Given the description of an element on the screen output the (x, y) to click on. 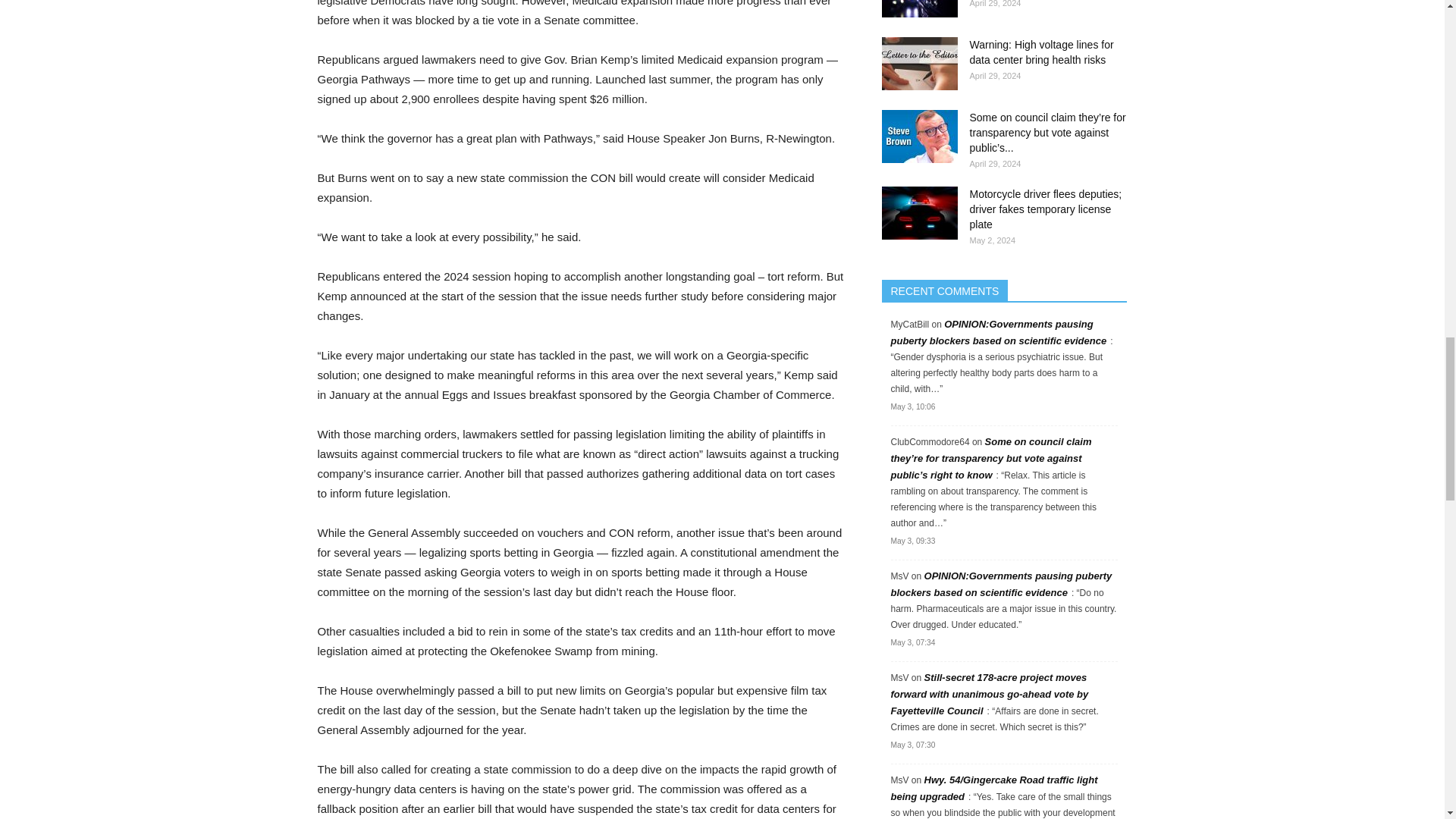
Another weekend, another batch of drug and alcohol arrests (918, 8)
